Given the description of an element on the screen output the (x, y) to click on. 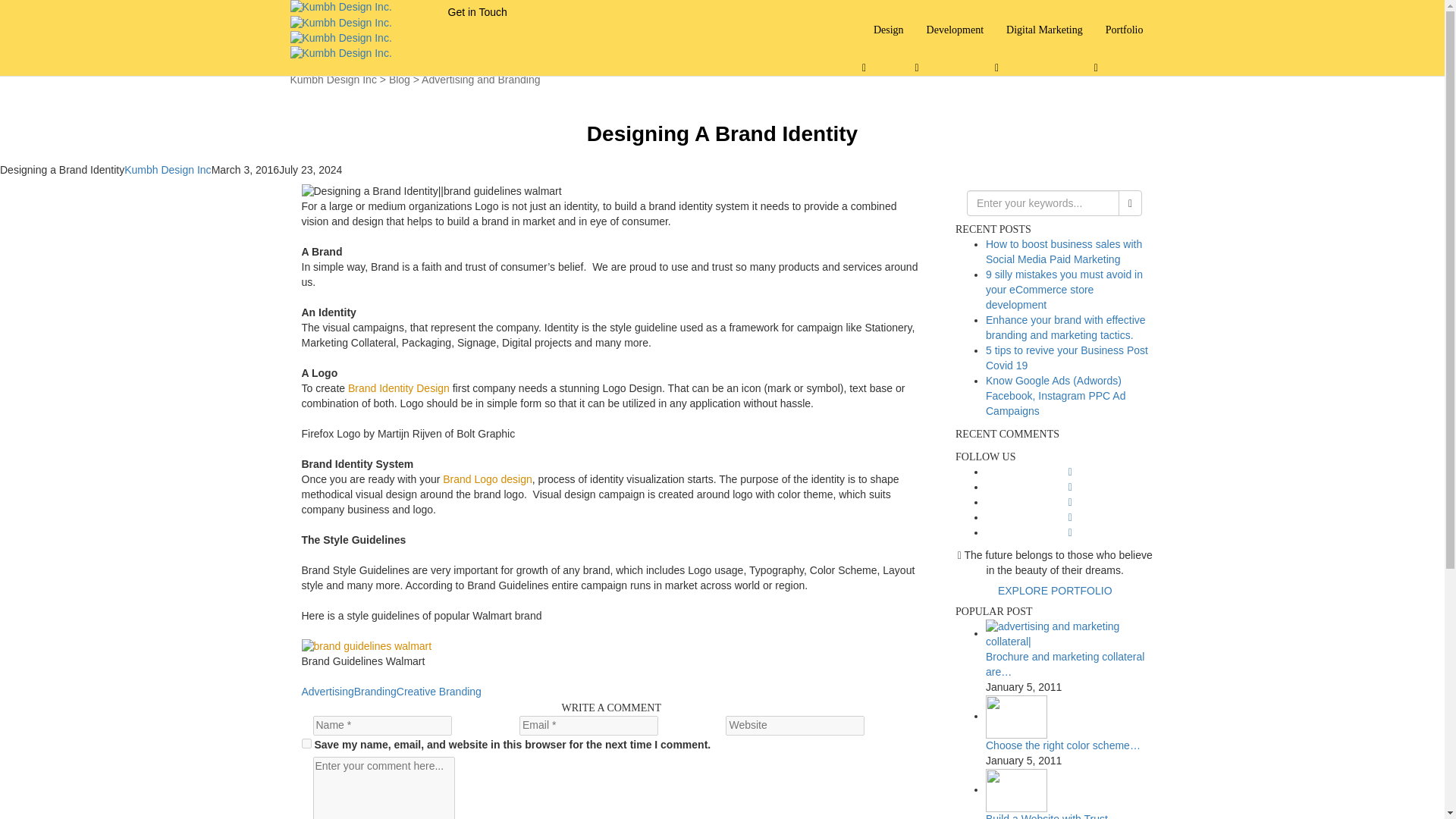
Kumbh Design Inc. (340, 13)
Kumbh Design Inc. (340, 44)
yes (306, 743)
Development (954, 30)
